Given the description of an element on the screen output the (x, y) to click on. 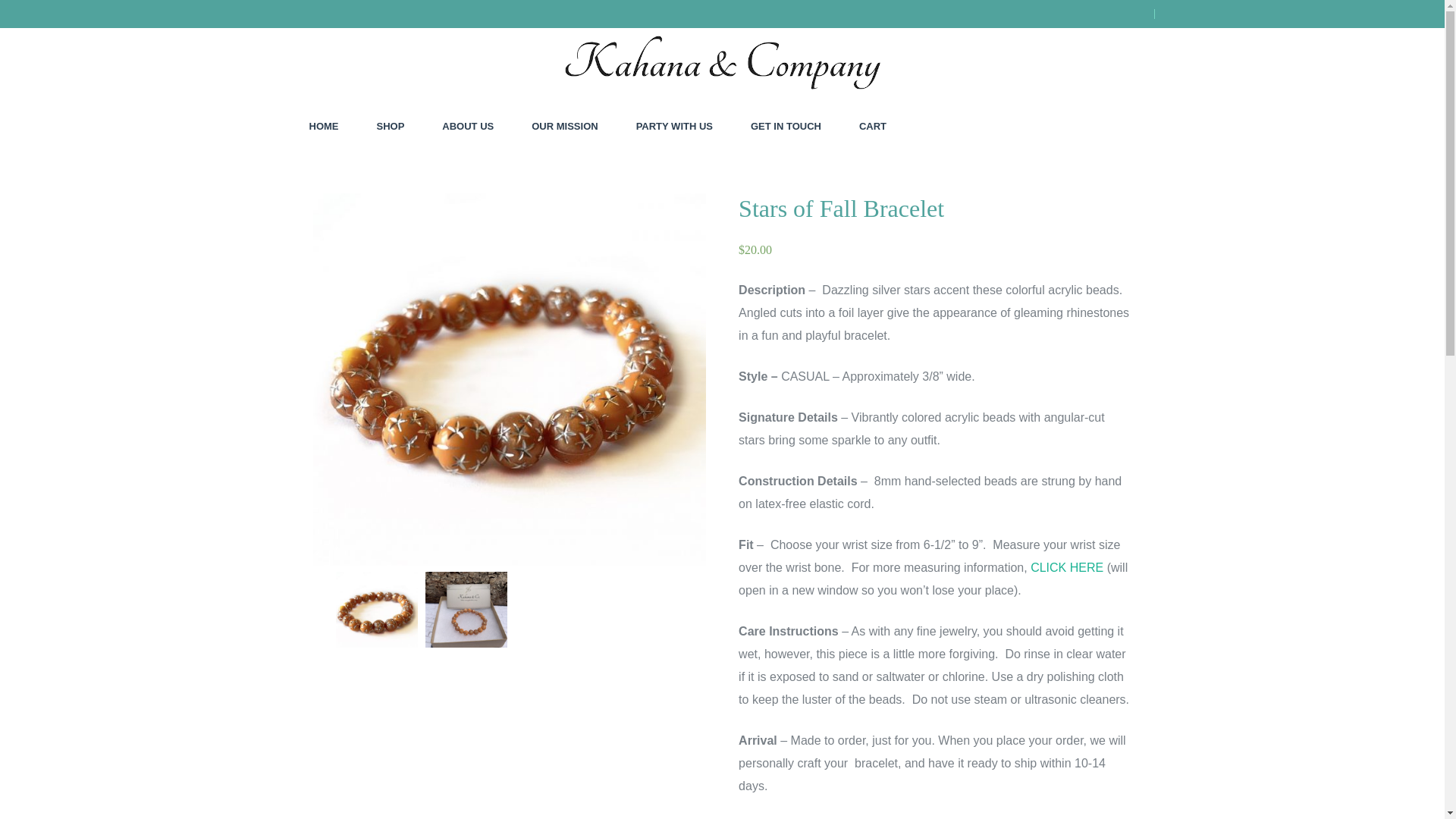
Stars of Fall Bracelet (465, 612)
PARTY WITH US (674, 126)
CART (872, 126)
Stars of fall bracelet (375, 612)
HOME (322, 126)
KahanaCollection.com (349, 107)
GET IN TOUCH (786, 126)
OUR MISSION (563, 126)
CLICK HERE (1066, 567)
